Given the description of an element on the screen output the (x, y) to click on. 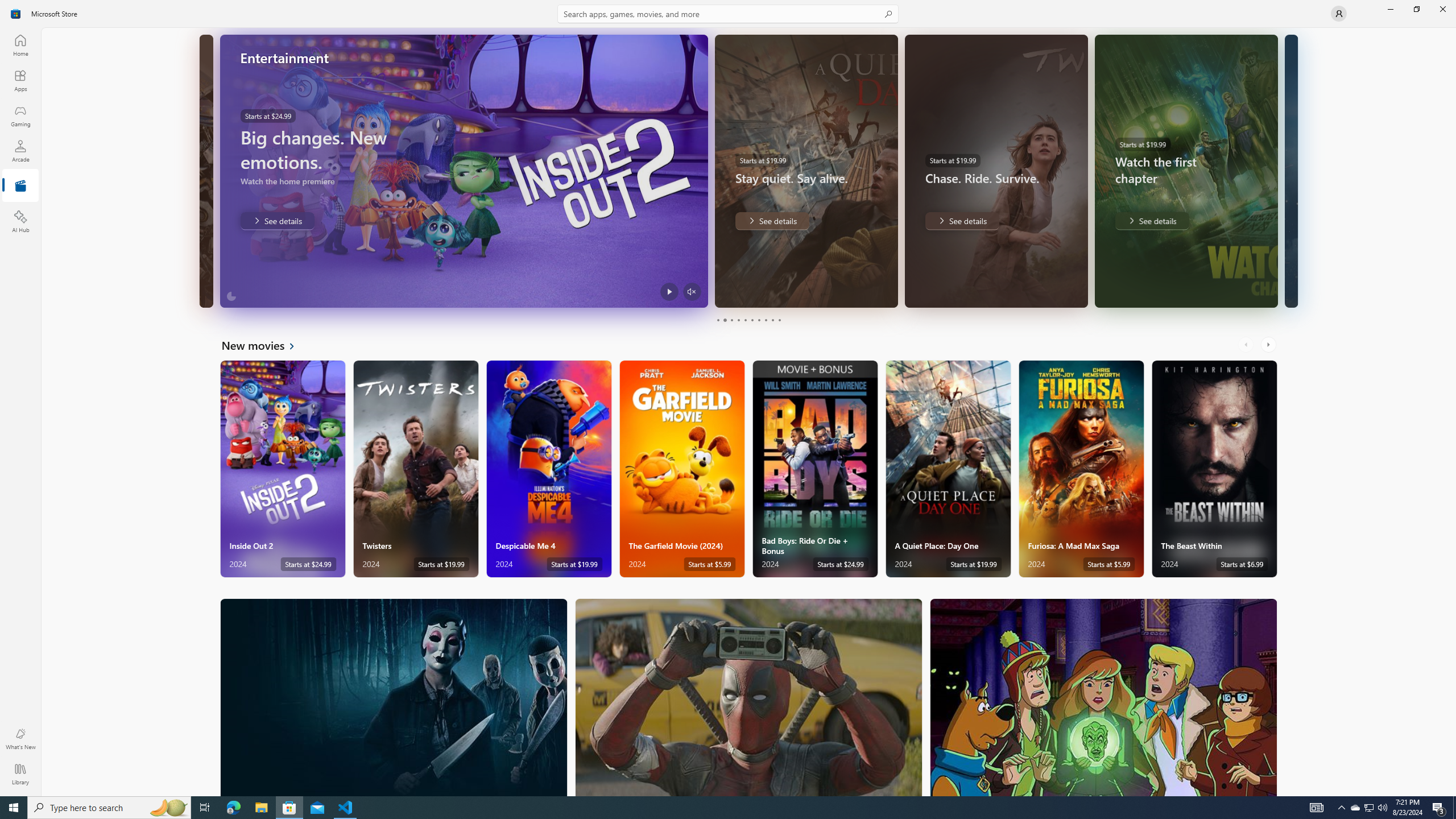
AutomationID: PosterImage (1103, 697)
AutomationID: Image (1290, 170)
